Given the description of an element on the screen output the (x, y) to click on. 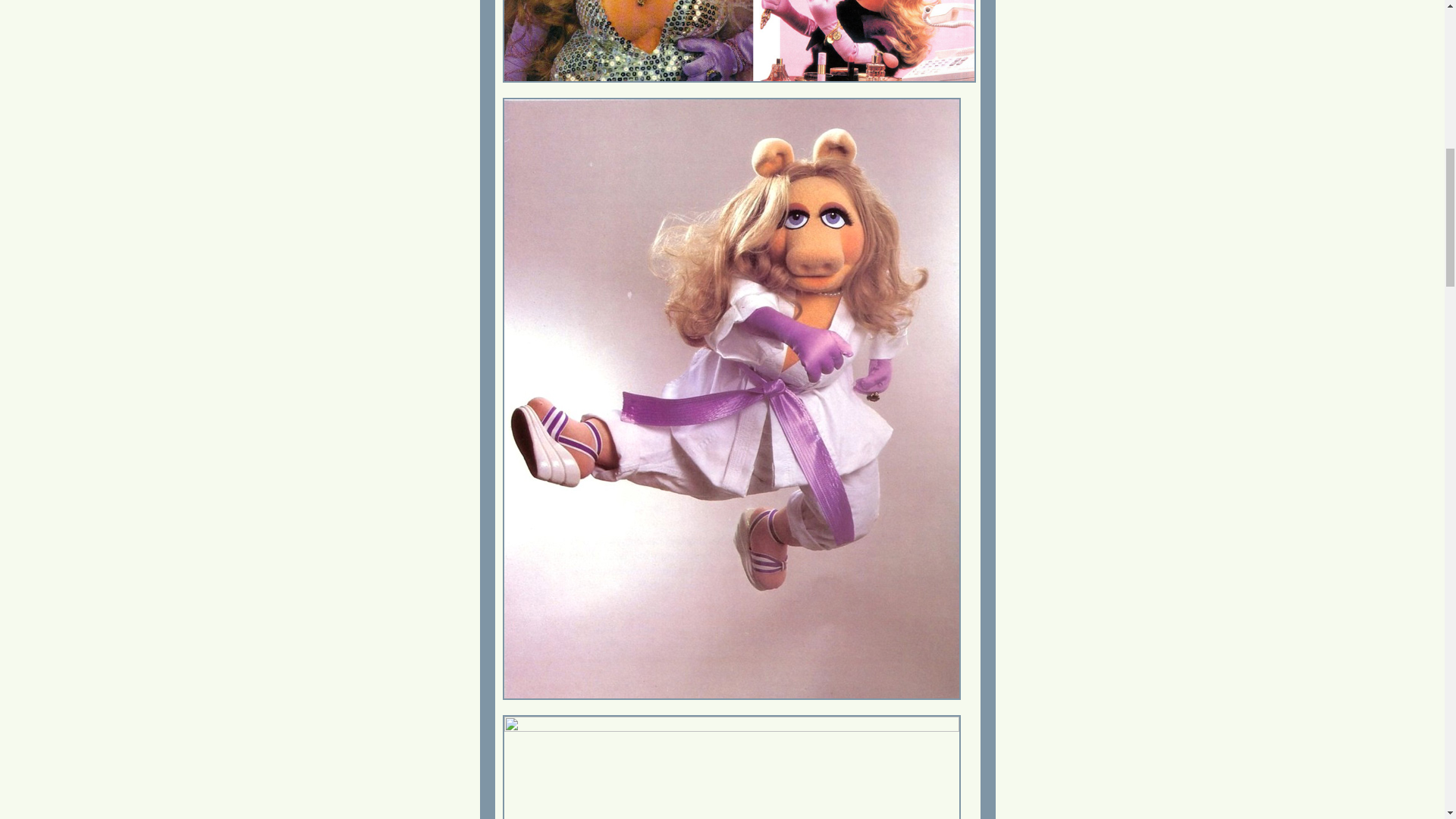
Miss Piggy (730, 766)
piggycomp (738, 41)
